Given the description of an element on the screen output the (x, y) to click on. 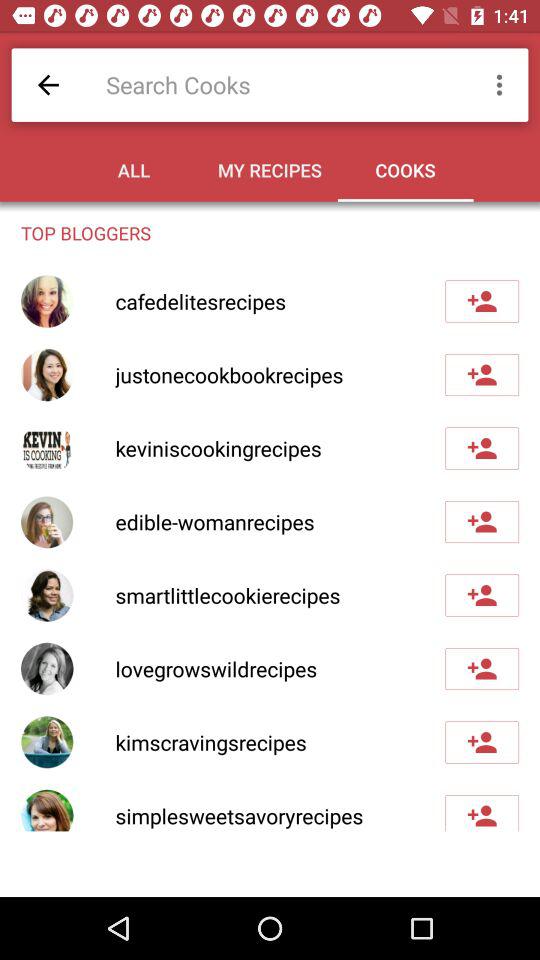
add to friends (482, 301)
